Given the description of an element on the screen output the (x, y) to click on. 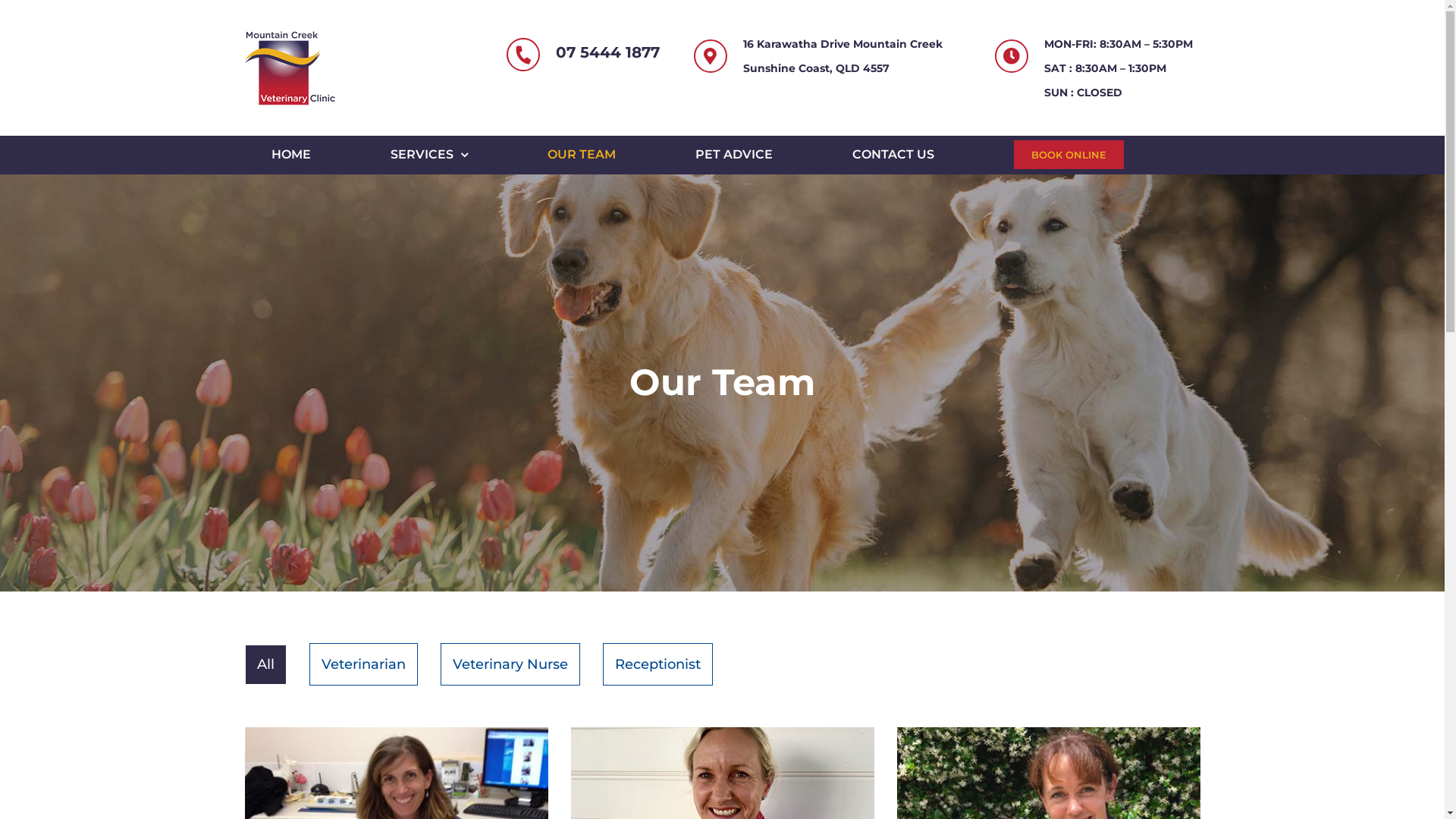
16 Karawatha Drive Mountain Creek Sunshine Coast, QLD 4557 Element type: text (851, 55)
HOME Element type: text (291, 154)
Veterinarian Element type: text (363, 664)
CONTACT US Element type: text (893, 154)
OUR TEAM Element type: text (581, 154)
Receptionist Element type: text (657, 664)
All Element type: text (264, 664)
PET ADVICE Element type: text (733, 154)
Veterinary Nurse Element type: text (509, 664)
SERVICES Element type: text (429, 154)
07 5444 1877 Element type: text (607, 52)
BOOK ONLINE Element type: text (1068, 154)
